Given the description of an element on the screen output the (x, y) to click on. 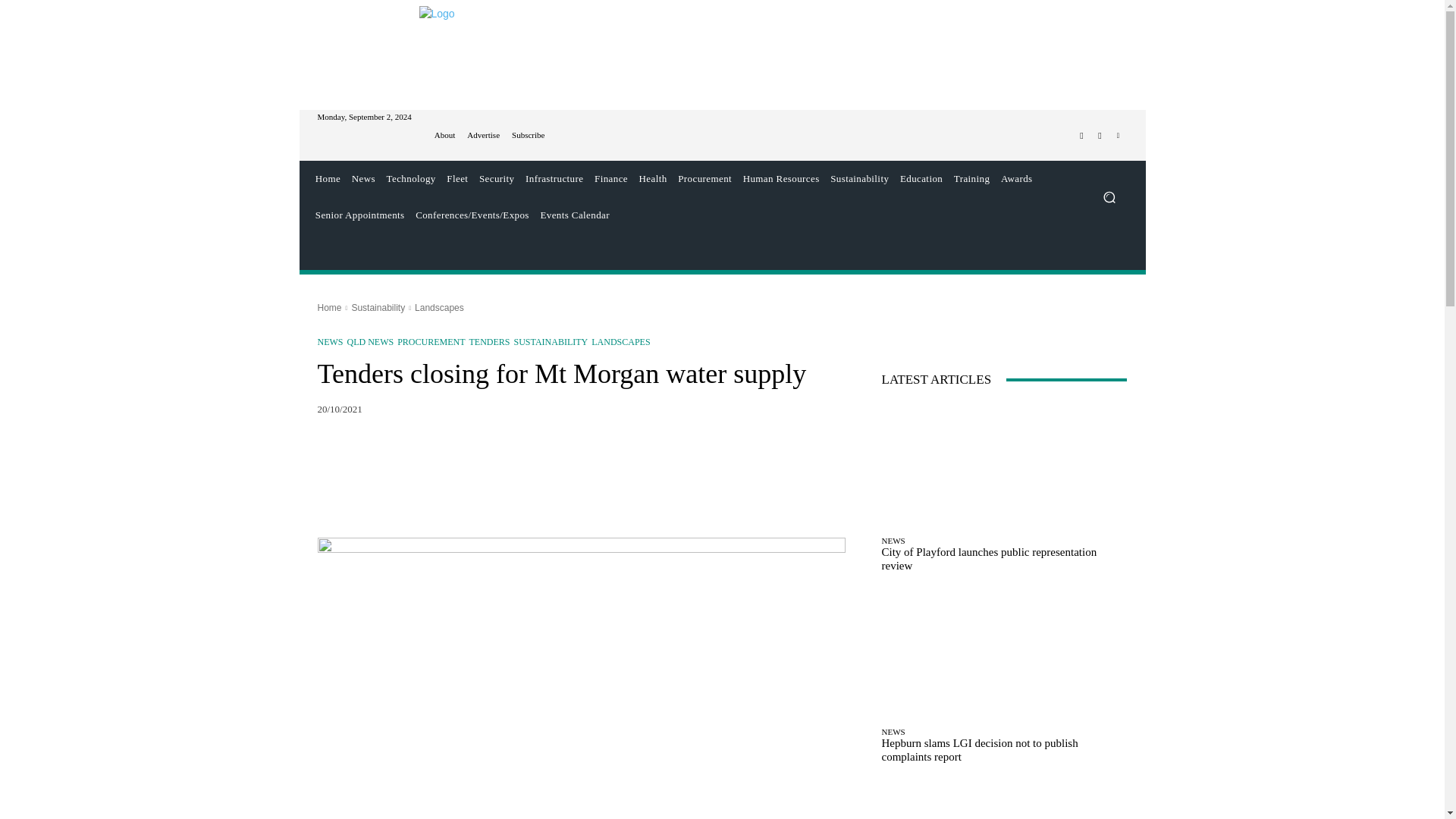
View all posts in Landscapes (439, 307)
About (444, 135)
Linkedin (1117, 135)
Twitter (1099, 135)
Advertise (483, 135)
View all posts in Sustainability (377, 307)
Subscribe (528, 135)
News (363, 178)
Home (327, 178)
Facebook (1080, 135)
